Given the description of an element on the screen output the (x, y) to click on. 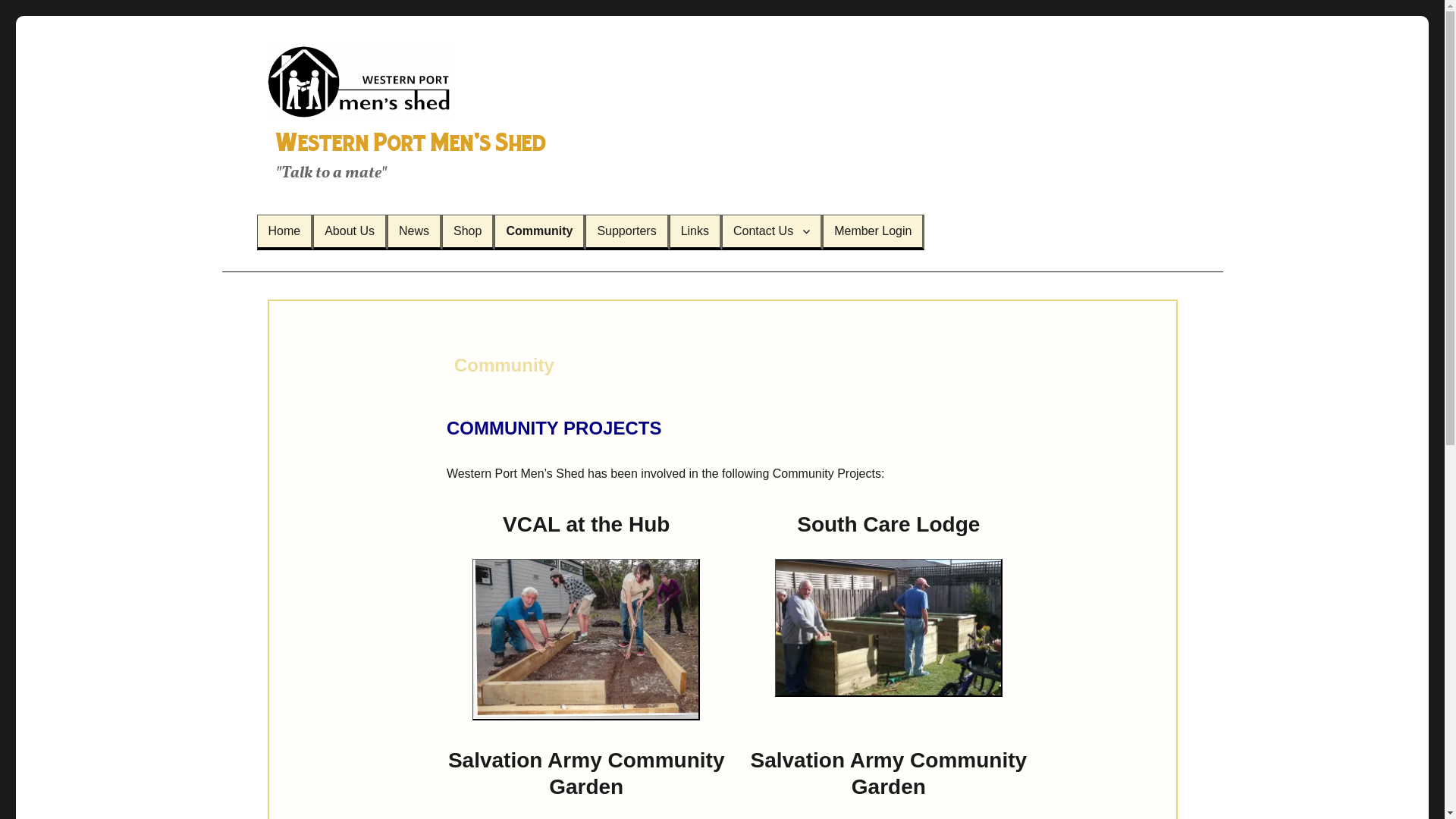
Western Port Men's Shed Element type: text (405, 142)
About Us Element type: text (349, 231)
Shop Element type: text (467, 231)
Home Element type: text (284, 231)
News Element type: text (413, 231)
Community South Care Element type: hover (888, 627)
Supporters Element type: text (626, 231)
Community Element type: text (539, 231)
Links Element type: text (694, 231)
Contact Us Element type: text (771, 231)
Member Login Element type: text (872, 231)
Community VCAL 4 Element type: hover (585, 639)
